Given the description of an element on the screen output the (x, y) to click on. 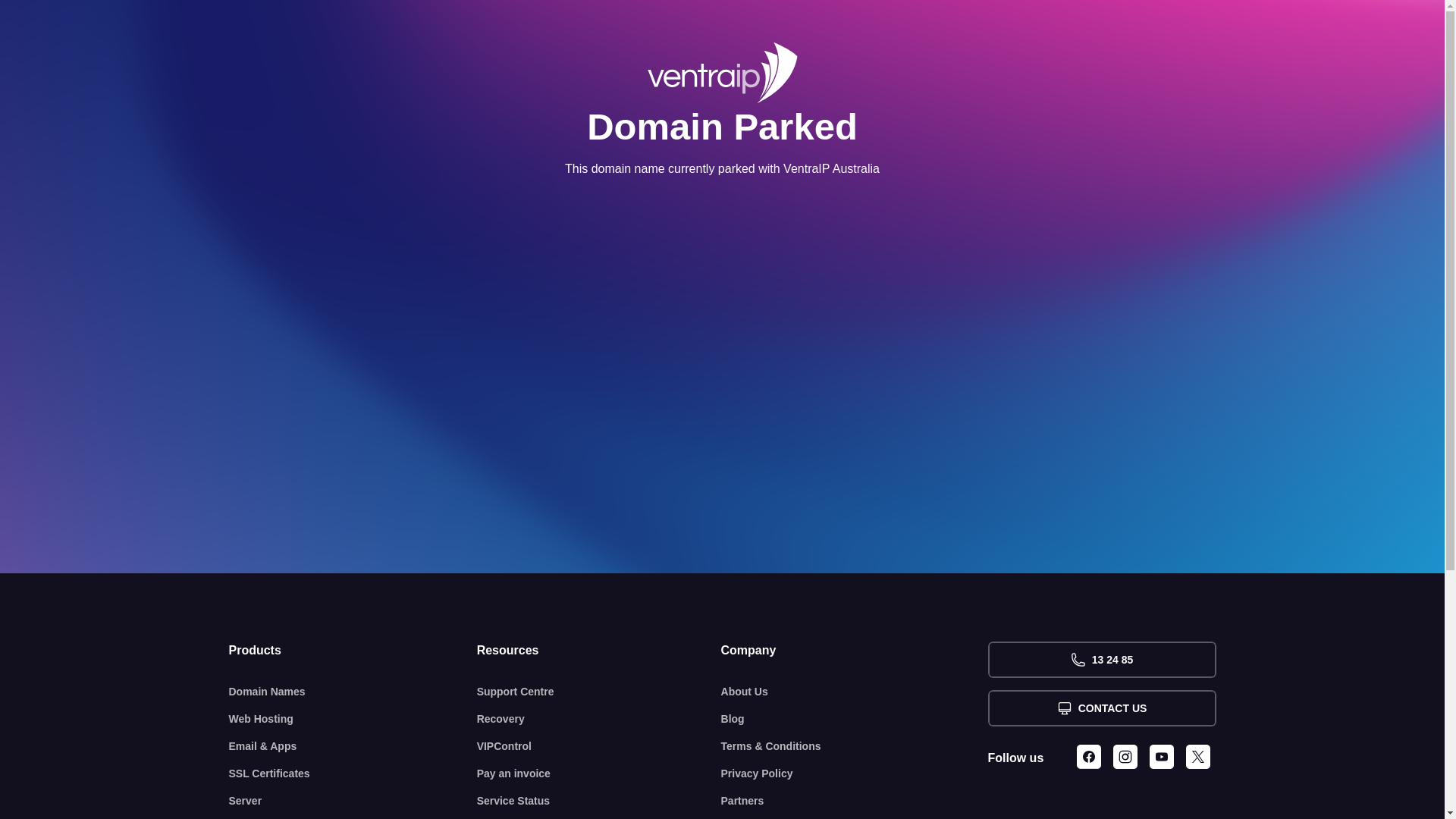
Email & Apps Element type: text (352, 745)
Service Status Element type: text (598, 800)
Web Hosting Element type: text (352, 718)
Recovery Element type: text (598, 718)
Blog Element type: text (854, 718)
Domain Names Element type: text (352, 691)
Terms & Conditions Element type: text (854, 745)
Pay an invoice Element type: text (598, 773)
VIPControl Element type: text (598, 745)
13 24 85 Element type: text (1101, 659)
Partners Element type: text (854, 800)
CONTACT US Element type: text (1101, 708)
Privacy Policy Element type: text (854, 773)
About Us Element type: text (854, 691)
SSL Certificates Element type: text (352, 773)
Server Element type: text (352, 800)
Support Centre Element type: text (598, 691)
